Given the description of an element on the screen output the (x, y) to click on. 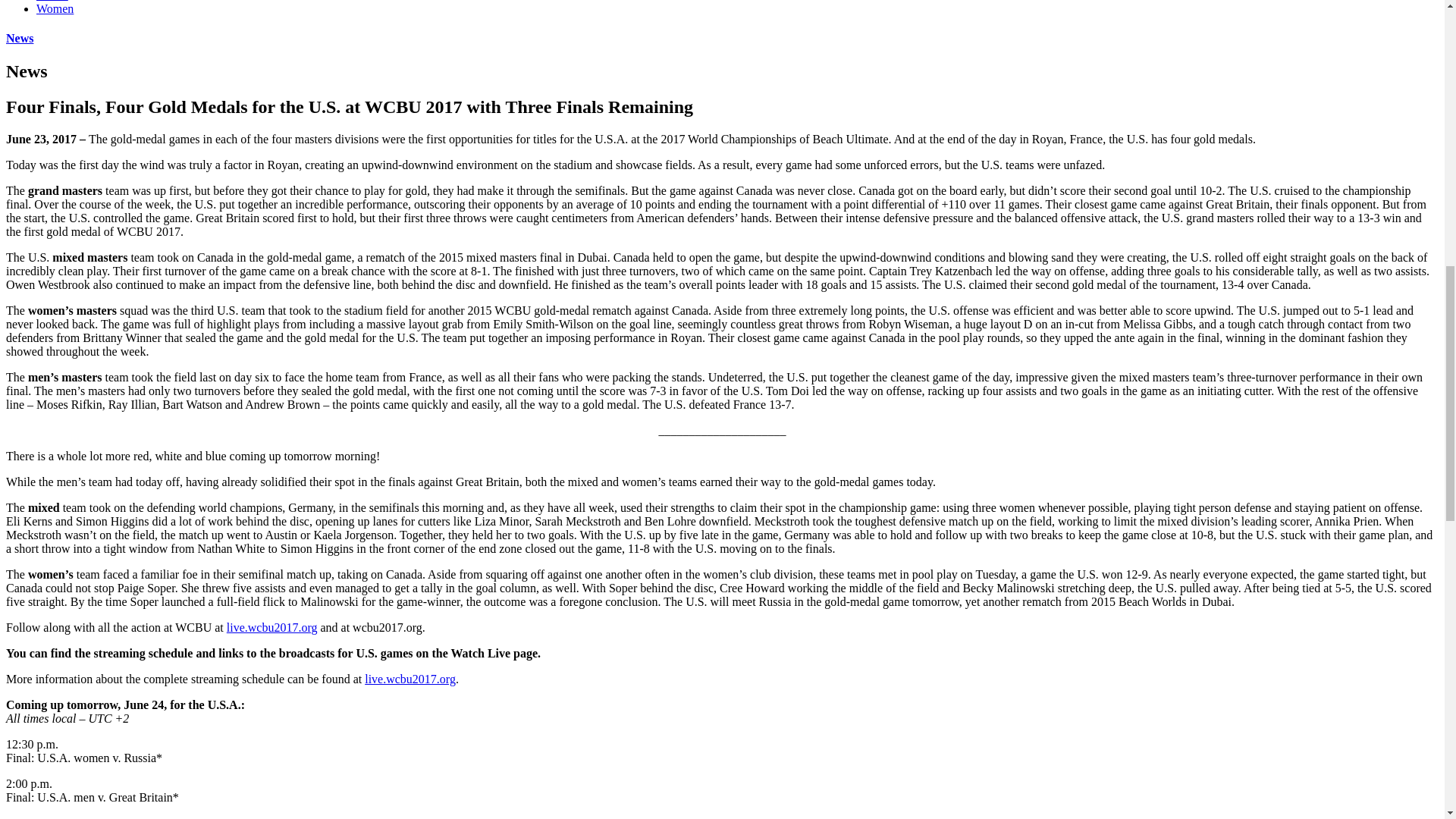
Women (55, 8)
News (19, 38)
Mixed (52, 0)
live.wcbu2017.org (272, 626)
live.wcbu2017.org (410, 678)
